Given the description of an element on the screen output the (x, y) to click on. 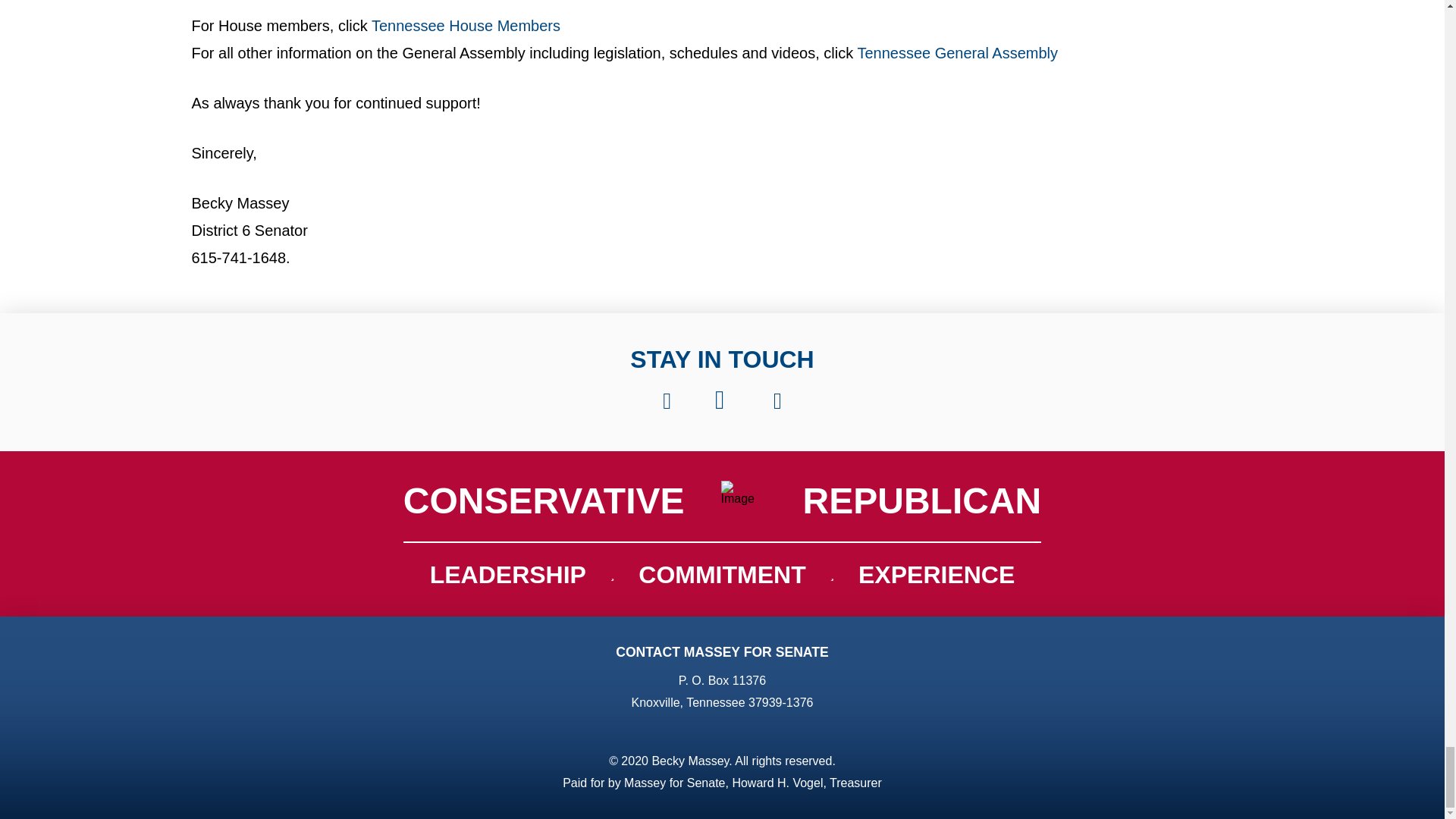
Tennessee House Members (465, 25)
Tennessee General Assembly (957, 53)
